Given the description of an element on the screen output the (x, y) to click on. 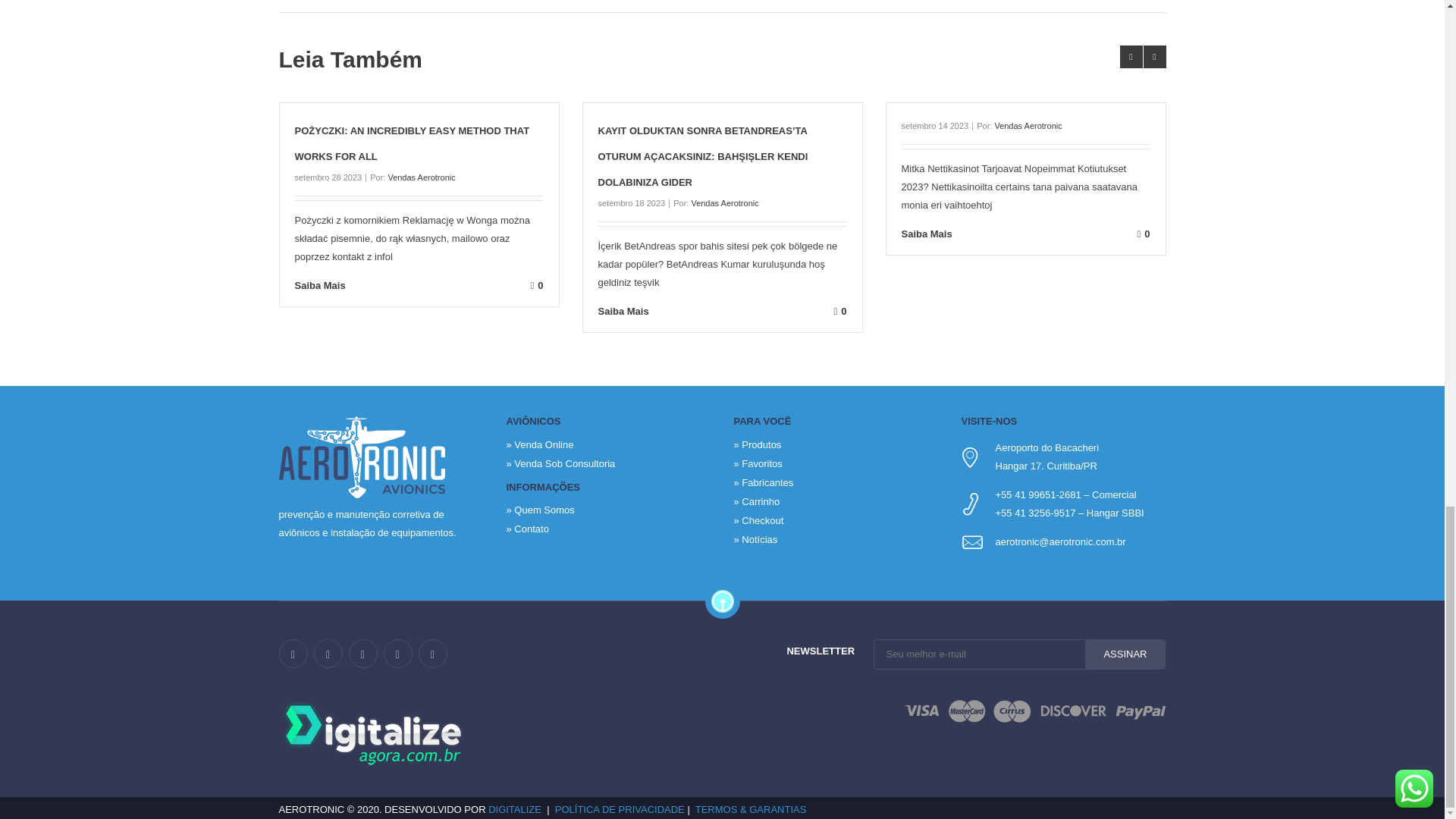
Saiba Mais (331, 285)
ASSINAR (1124, 654)
Vendas Aerotronic (420, 176)
0 (456, 285)
